Given the description of an element on the screen output the (x, y) to click on. 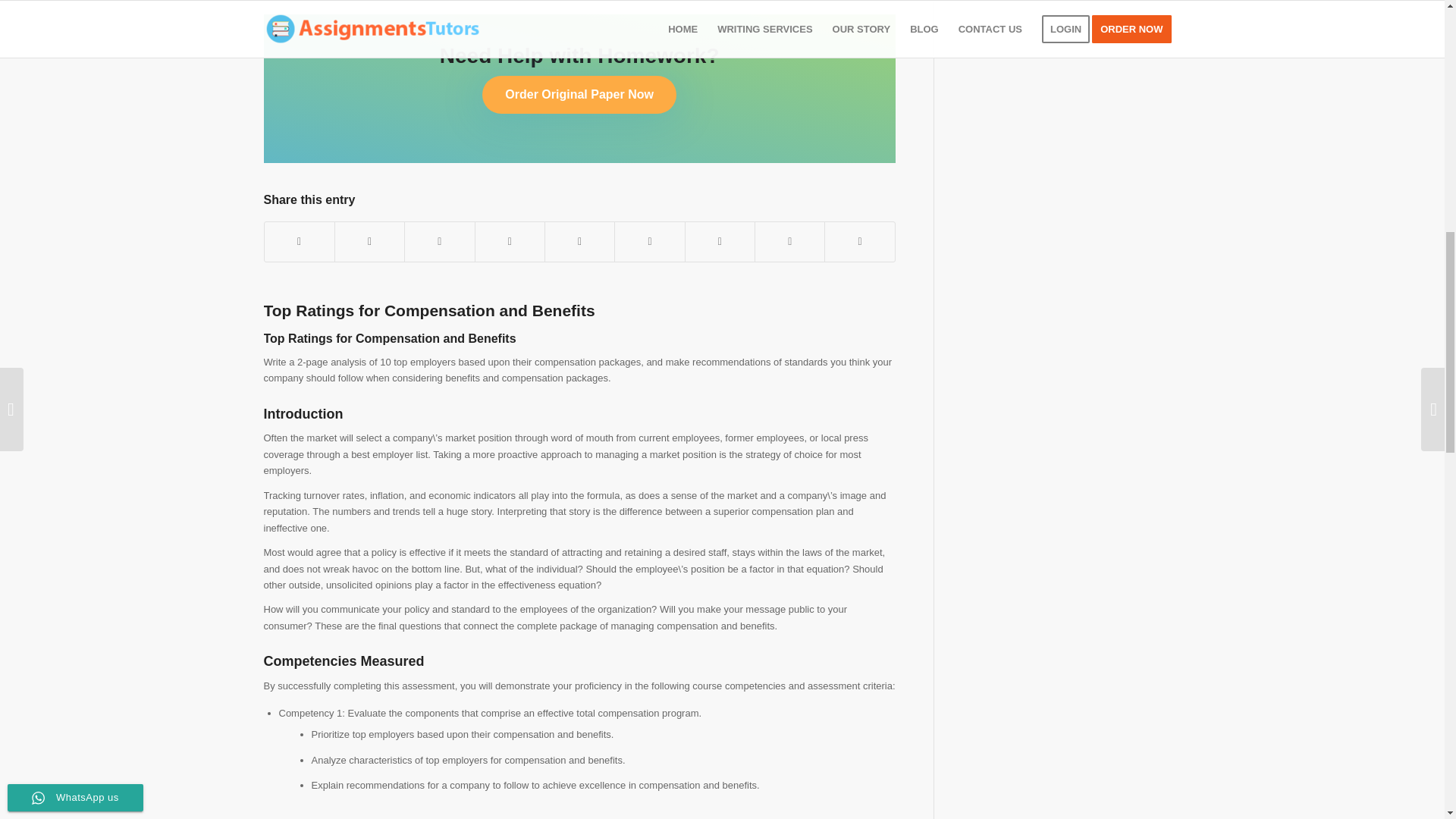
Order Original Paper Now (579, 94)
Permanent Link: Top Ratings for Compensation and Benefits (429, 310)
Top Ratings for Compensation and Benefits (429, 310)
